Given the description of an element on the screen output the (x, y) to click on. 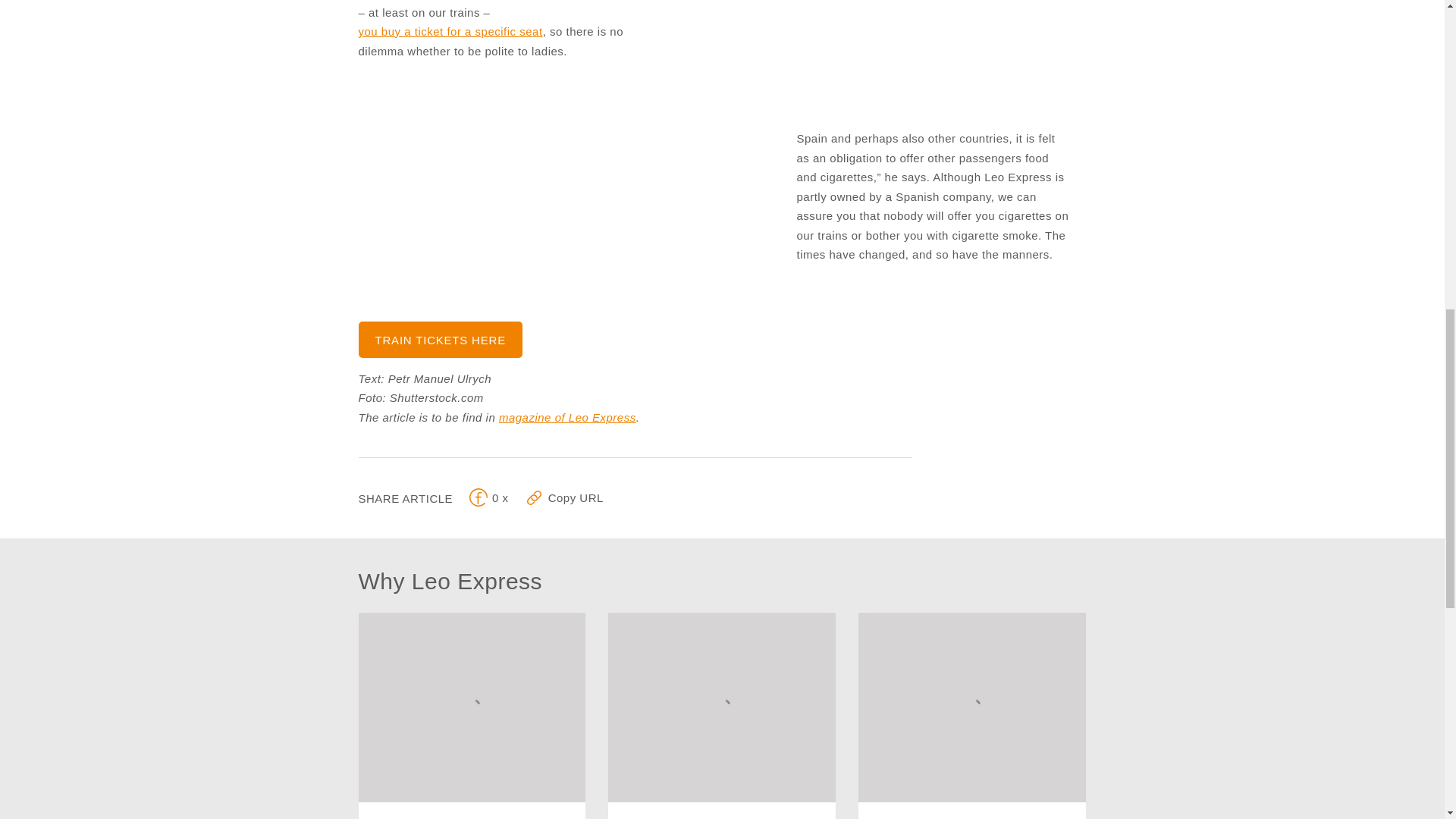
you buy a ticket for a specific seat (449, 31)
magazine of Leo Express (721, 715)
TRAIN TICKETS HERE (972, 715)
